Given the description of an element on the screen output the (x, y) to click on. 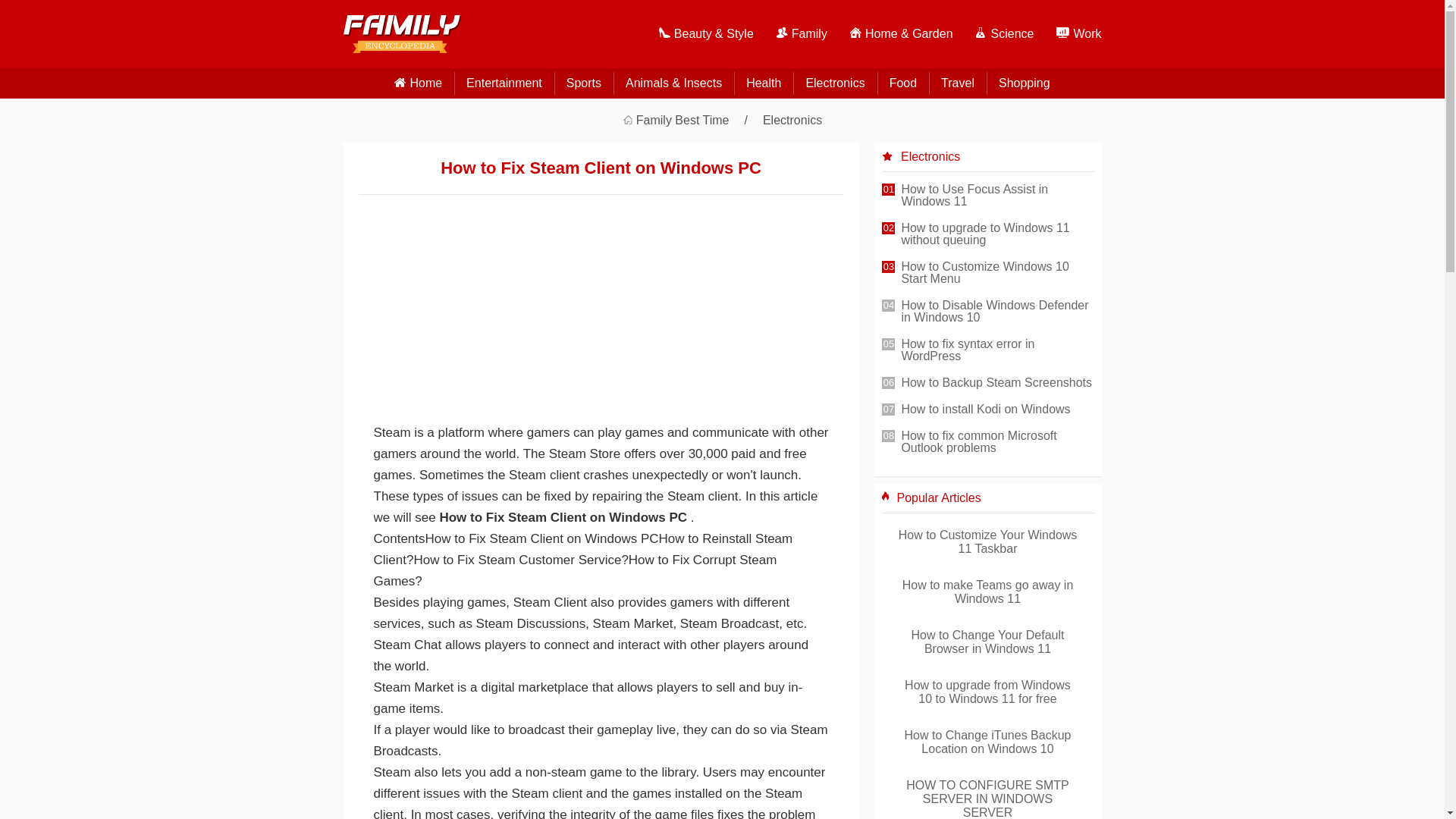
How to Use Focus Assist in Windows 11 (997, 196)
How to Use Focus Assist in Windows 11  (997, 196)
How to Disable Windows Defender in Windows 10  (997, 312)
How to Change iTunes Backup Location on Windows 10 (987, 741)
Work (1066, 33)
How to install Kodi on Windows (997, 410)
Electronics (792, 120)
How to make Teams go away in Windows 11 (987, 592)
How to Customize Windows 10 Start Menu  (997, 274)
Science (993, 33)
How to upgrade to Windows 11 without queuing (997, 235)
Electronics (834, 83)
How to fix common Microsoft Outlook problems (997, 443)
Family (790, 33)
Family Best Time (692, 120)
